Given the description of an element on the screen output the (x, y) to click on. 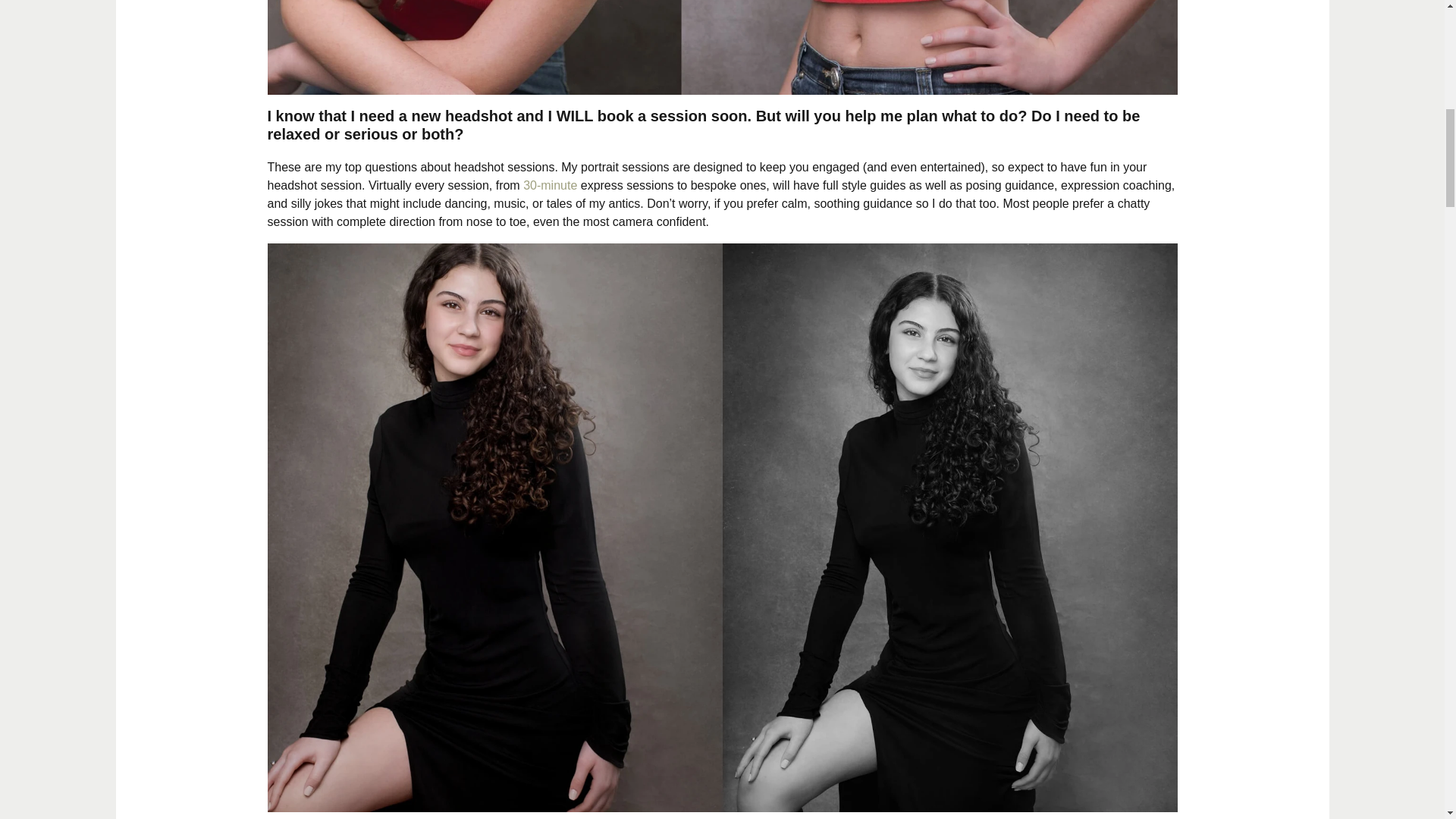
30-minute (549, 185)
